Given the description of an element on the screen output the (x, y) to click on. 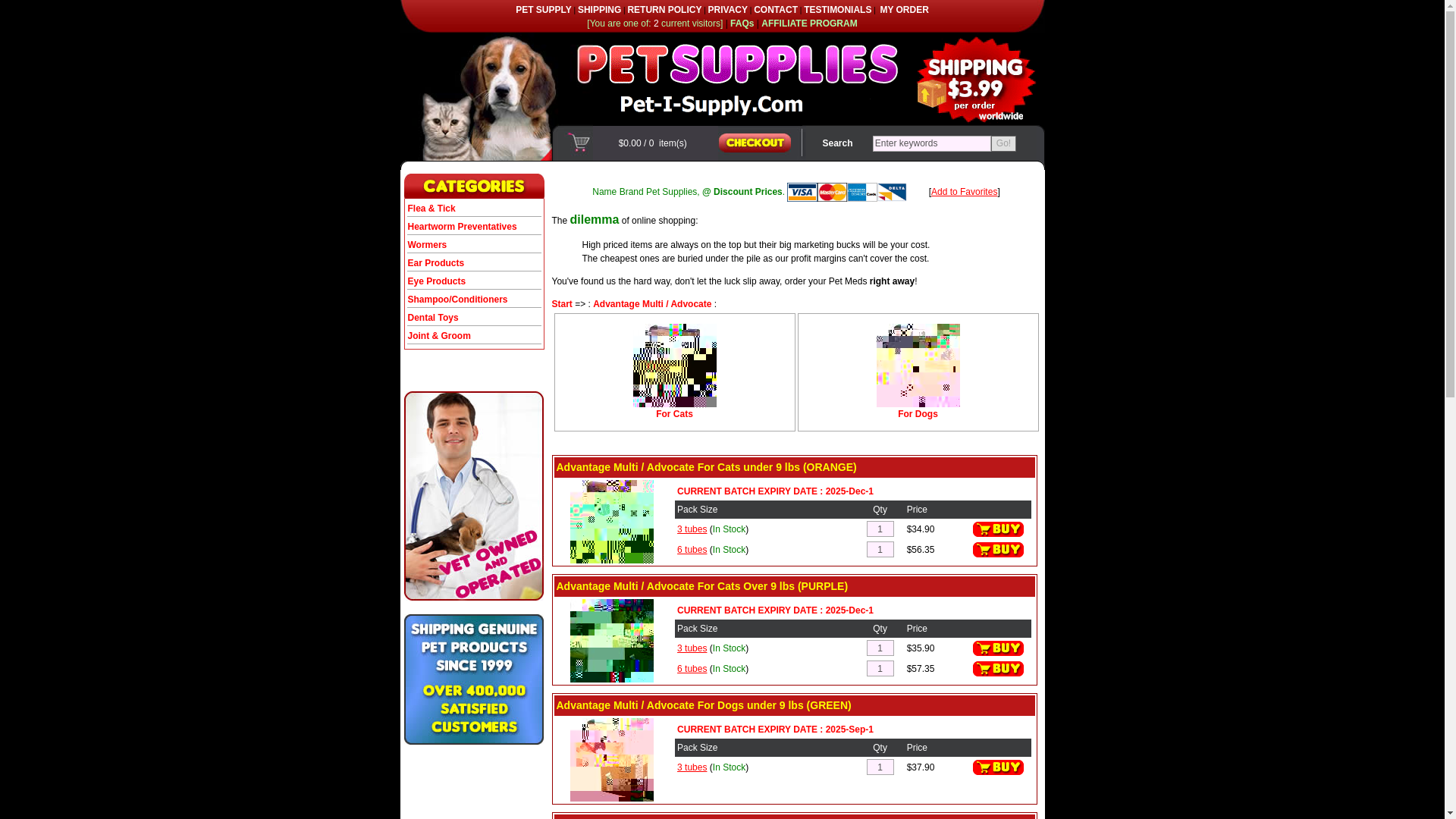
6 tubes (691, 549)
RETURN POLICY (664, 9)
SHIPPING (599, 9)
TESTIMONIALS (836, 9)
Go! (1003, 142)
Start (561, 303)
Heartworm Preventatives (461, 226)
PET SUPPLY (543, 9)
6 tubes (691, 667)
3 tubes (691, 766)
